Given the description of an element on the screen output the (x, y) to click on. 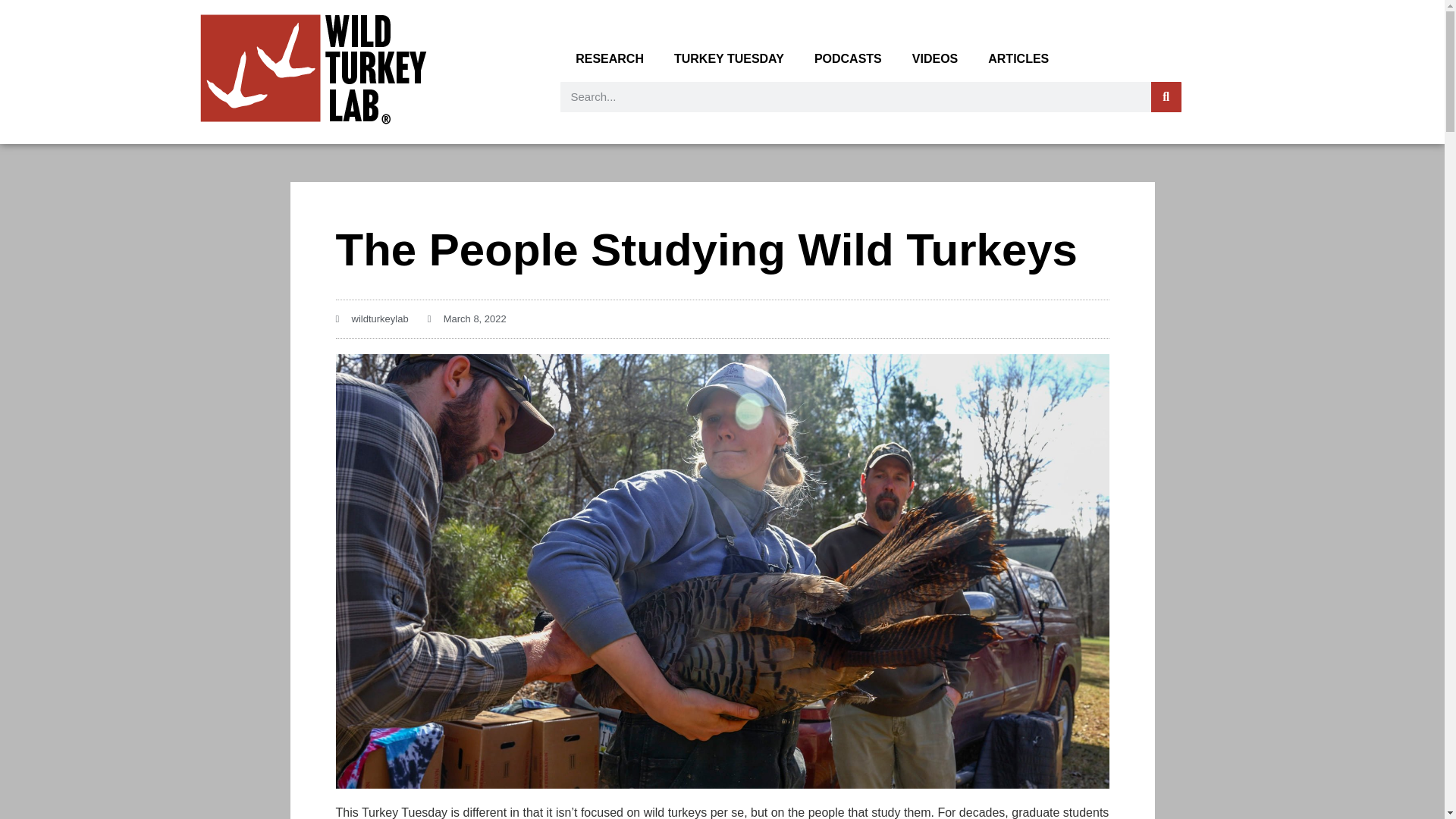
PODCASTS (847, 59)
TURKEY TUESDAY (729, 59)
VIDEOS (934, 59)
March 8, 2022 (467, 319)
RESEARCH (609, 59)
wildturkeylab (370, 319)
ARTICLES (1018, 59)
